Given the description of an element on the screen output the (x, y) to click on. 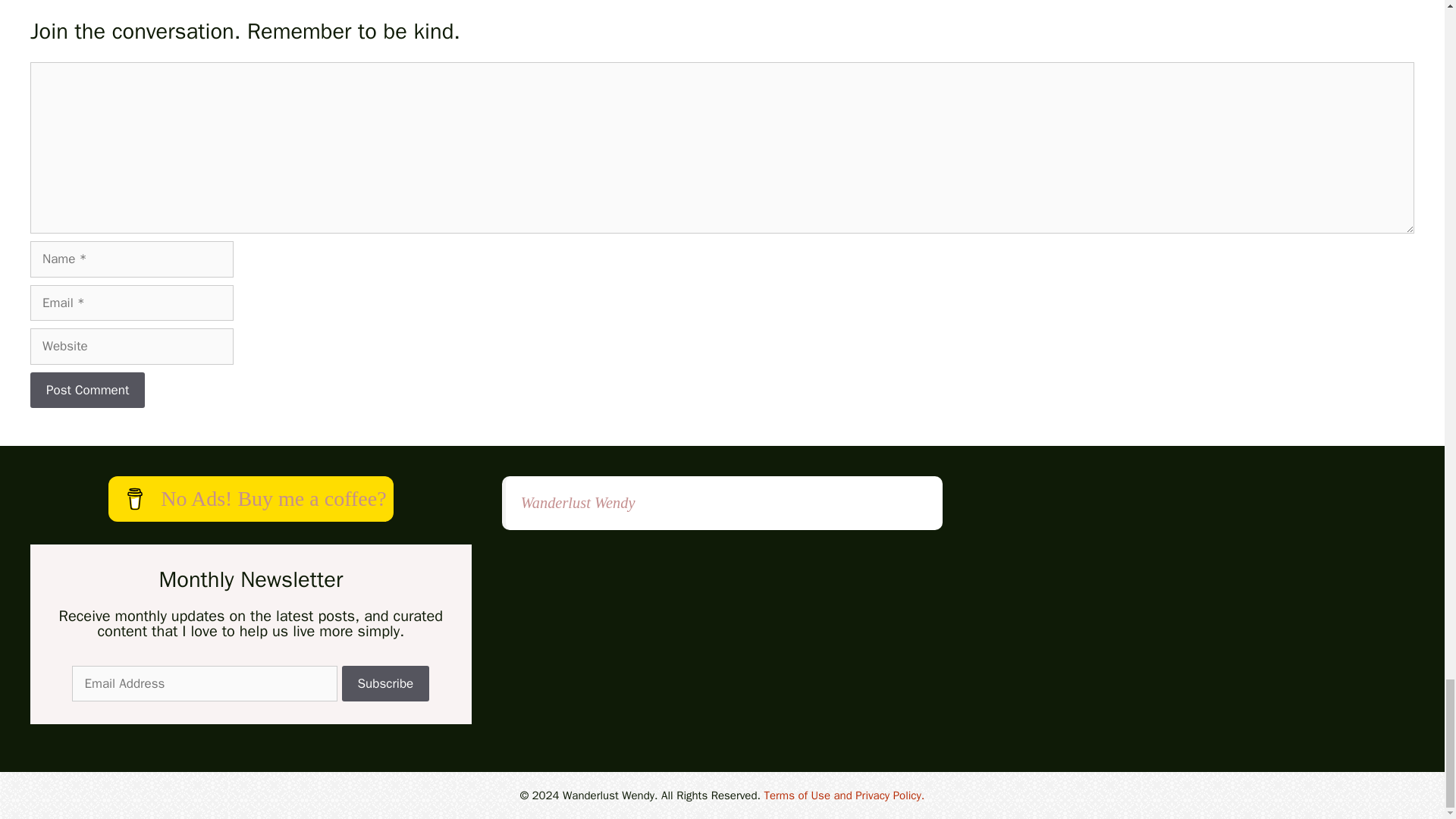
Subscribe (385, 683)
Post Comment (87, 390)
